Given the description of an element on the screen output the (x, y) to click on. 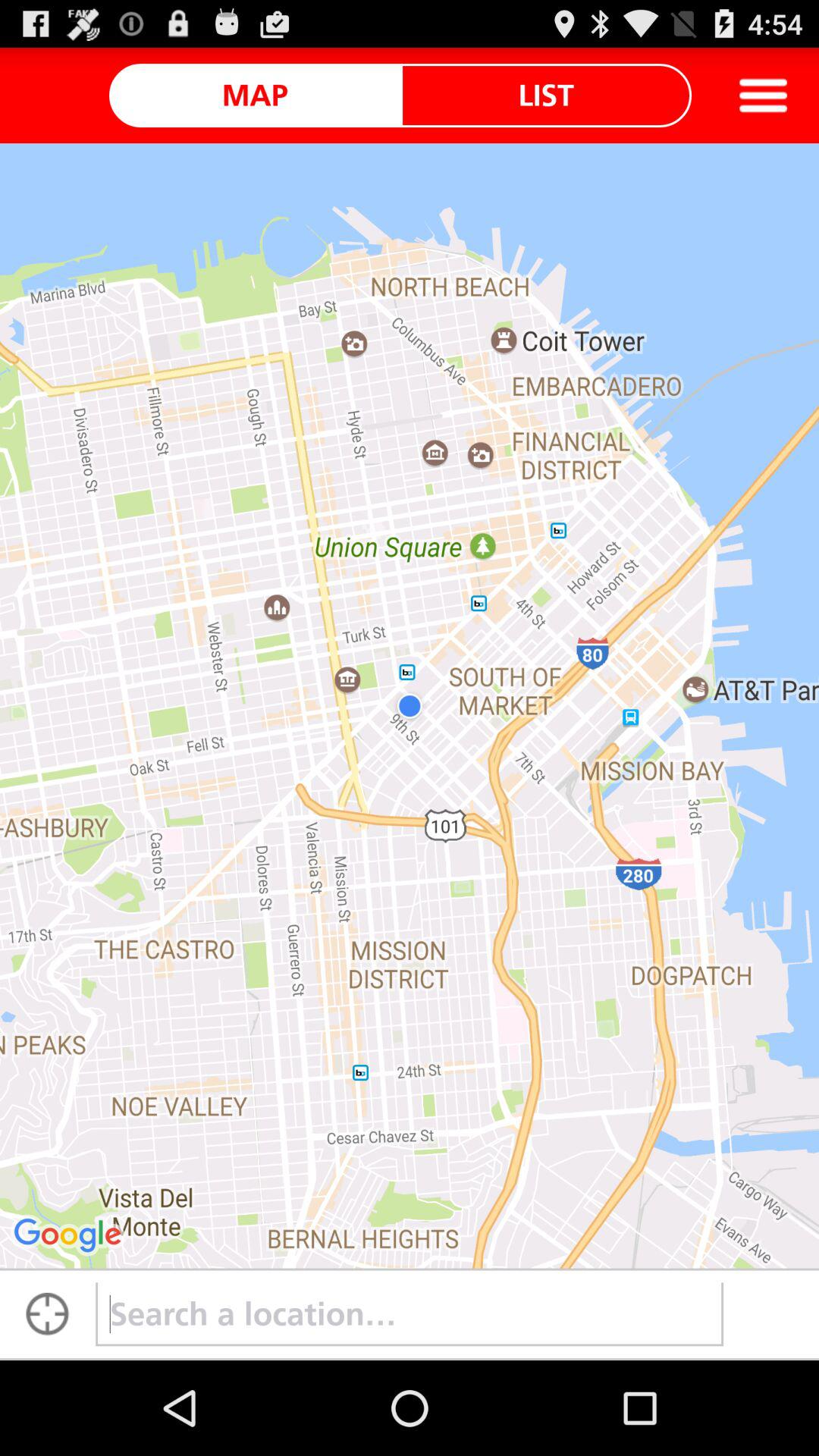
click on search box (409, 1314)
